Given the description of an element on the screen output the (x, y) to click on. 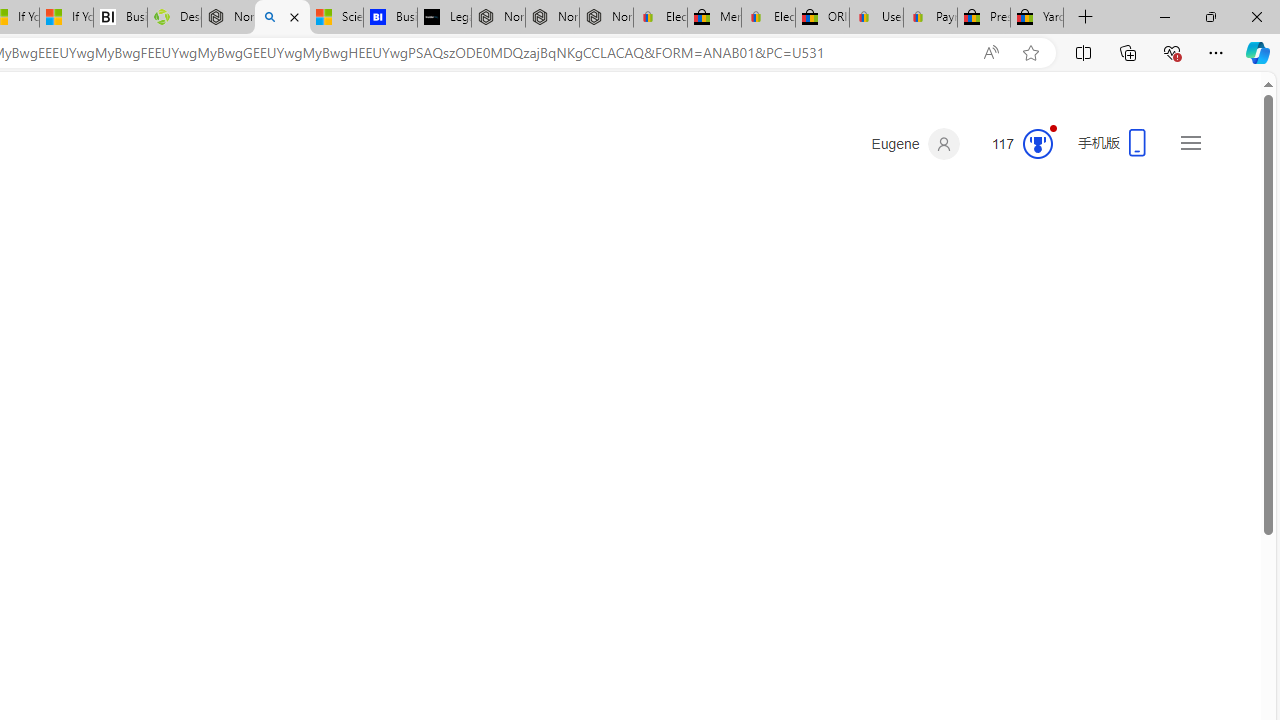
Eugene (915, 143)
Class: medal-svg-animation (1037, 143)
Payments Terms of Use | eBay.com (930, 17)
Microsoft Rewards 93 (1014, 143)
